Given the description of an element on the screen output the (x, y) to click on. 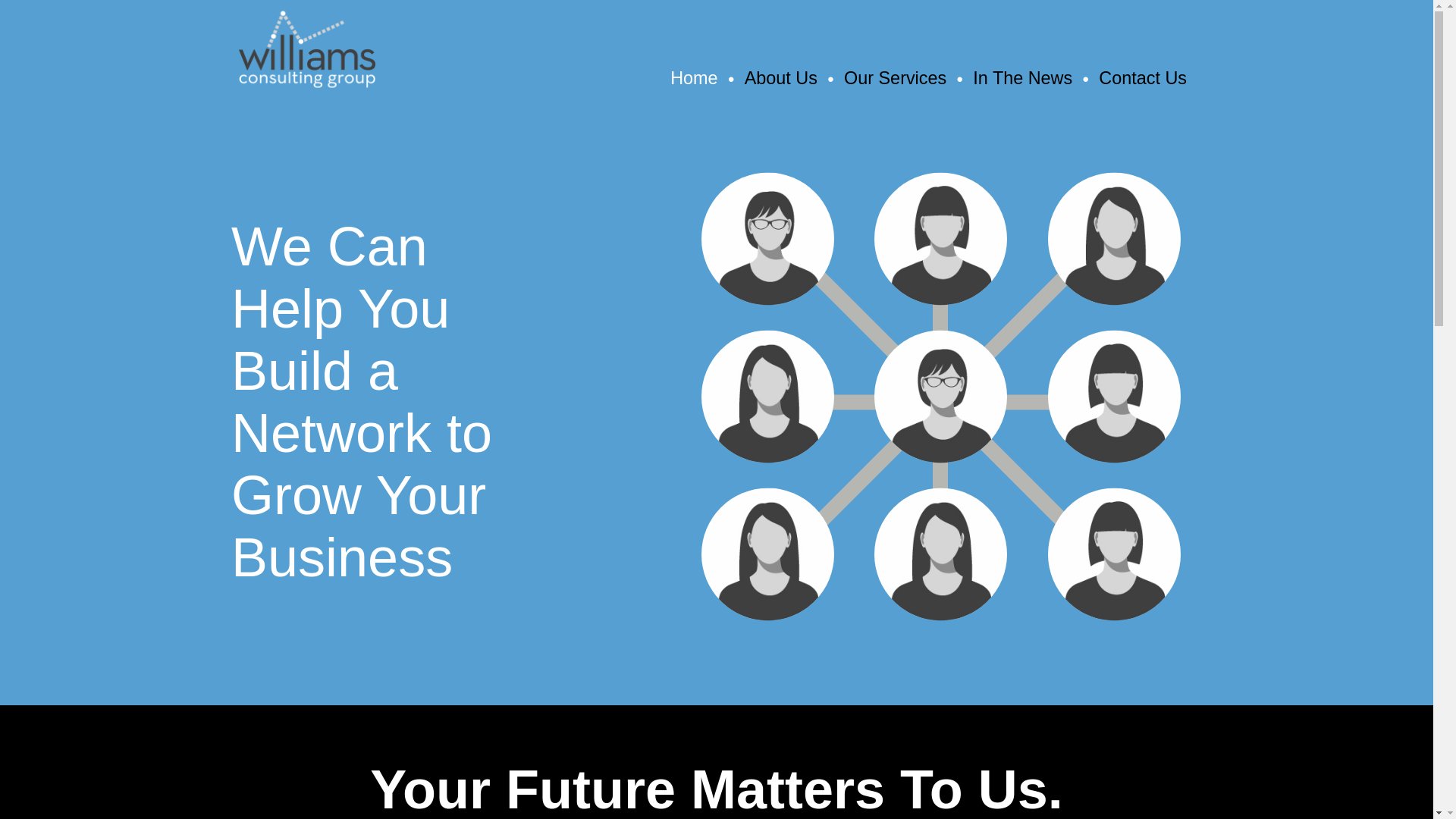
About Us (780, 77)
Our Services (895, 77)
Home (693, 77)
In The News (1021, 77)
Contact Us (1142, 77)
